Given the description of an element on the screen output the (x, y) to click on. 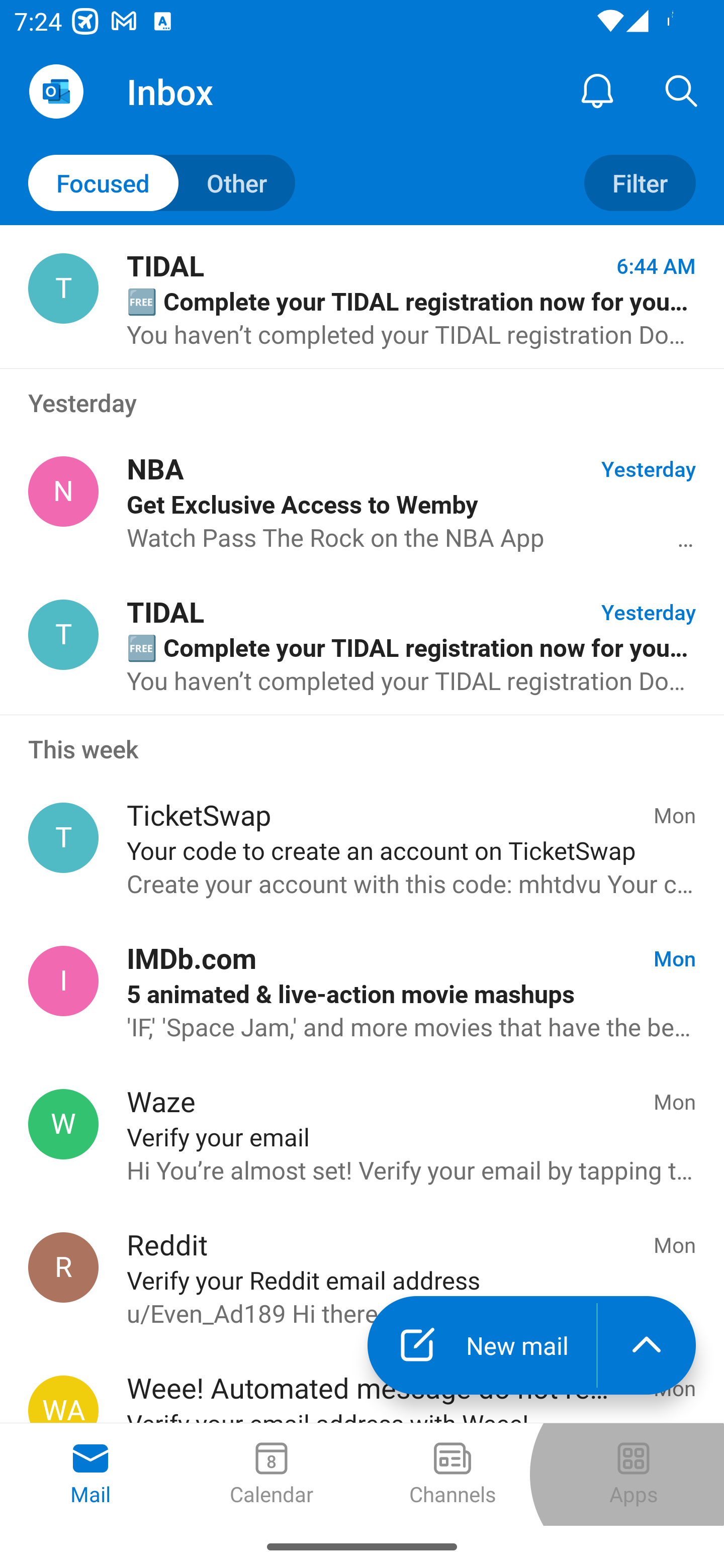
Notification Center (597, 90)
Search, ,  (681, 90)
Open Navigation Drawer (55, 91)
Toggle to other mails (161, 183)
Filter (639, 183)
TIDAL, hello@email.tidal.com (63, 288)
NBA, NBA@email.nba.com (63, 491)
TIDAL, hello@email.tidal.com (63, 633)
TicketSwap, info@ticketswap.com (63, 837)
IMDb.com, do-not-reply@imdb.com (63, 980)
Waze, noreply@waze.com (63, 1123)
Reddit, noreply@reddit.com (63, 1267)
New mail (481, 1344)
